Given the description of an element on the screen output the (x, y) to click on. 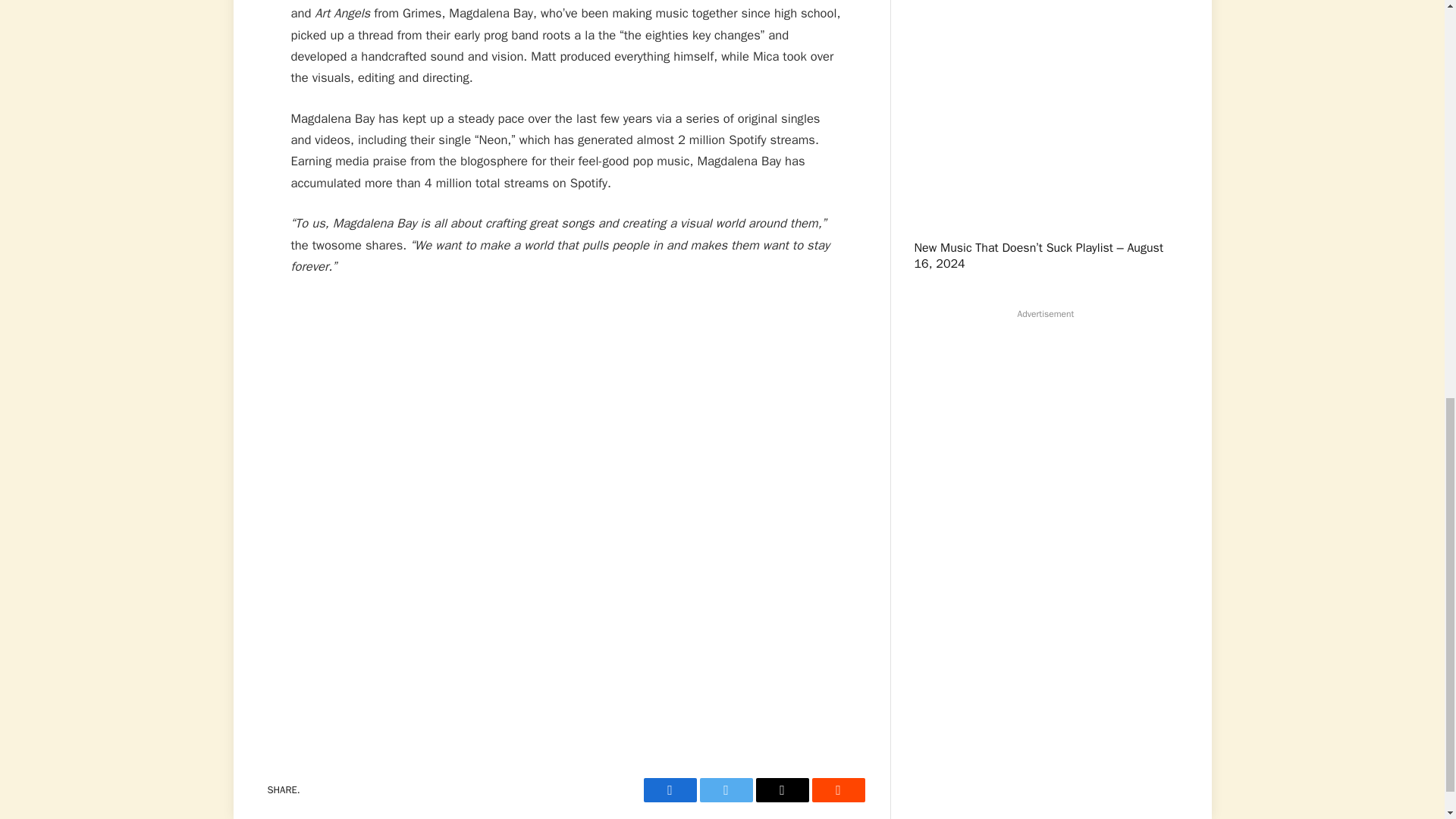
Share via Email (781, 790)
Share on Reddit (837, 790)
Reddit (837, 790)
Share on Facebook (669, 790)
Email (781, 790)
Twitter (725, 790)
Facebook (669, 790)
